Given the description of an element on the screen output the (x, y) to click on. 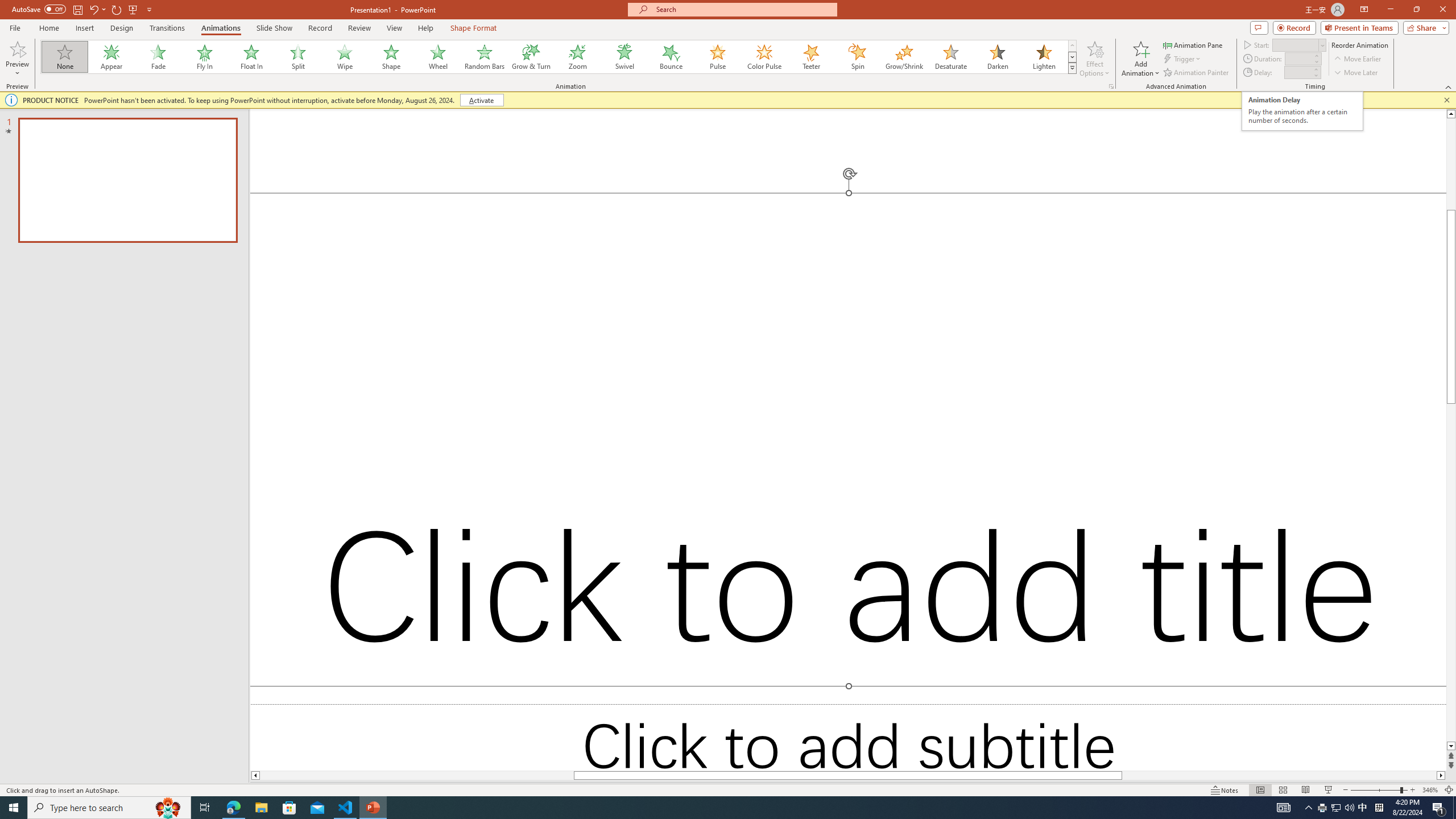
Pulse (717, 56)
Color Pulse (764, 56)
Appear (111, 56)
More (1315, 69)
Float In (251, 56)
Swivel (624, 56)
